Given the description of an element on the screen output the (x, y) to click on. 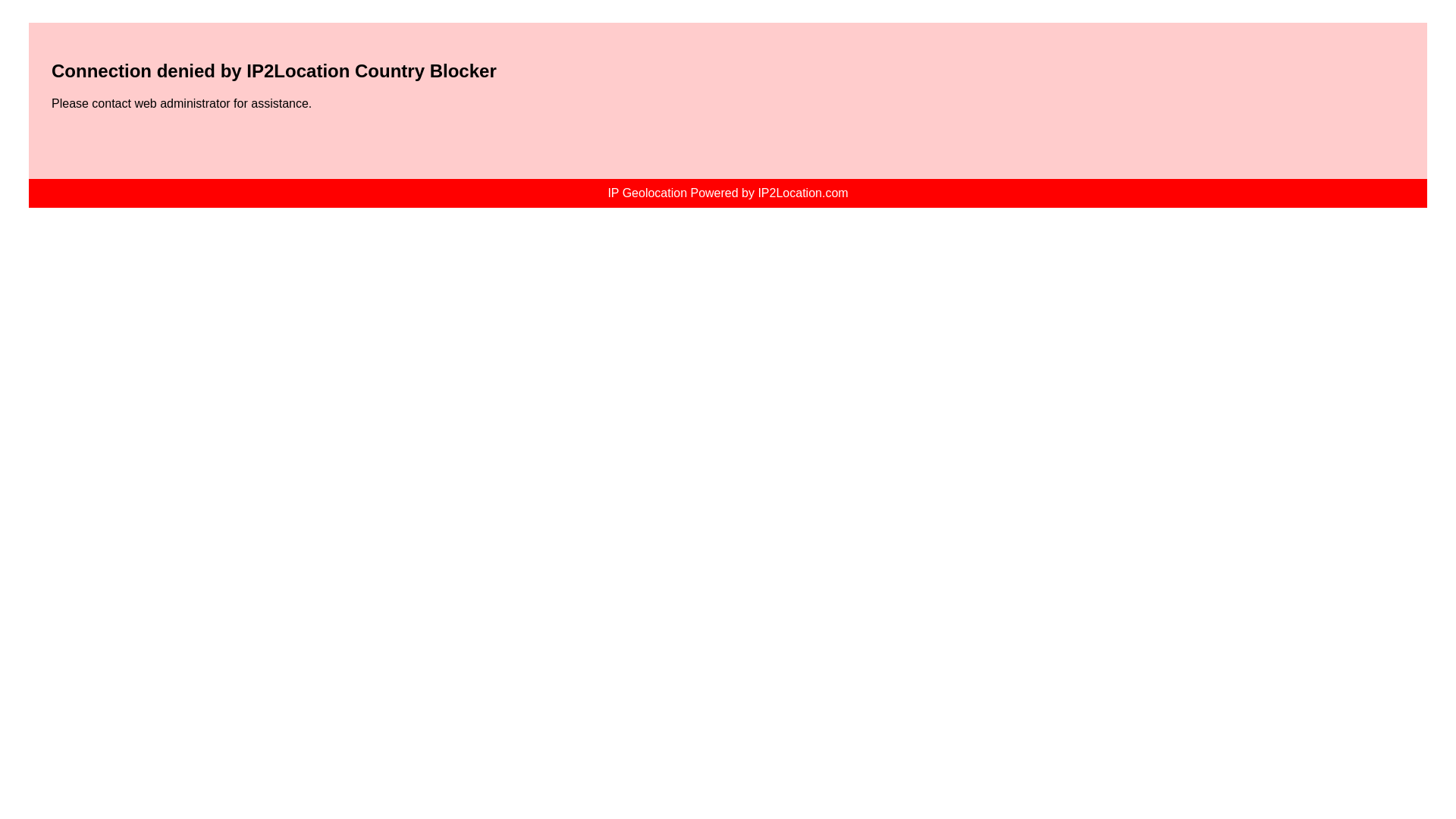
IP Geolocation Powered by IP2Location.com Element type: text (727, 192)
